Given the description of an element on the screen output the (x, y) to click on. 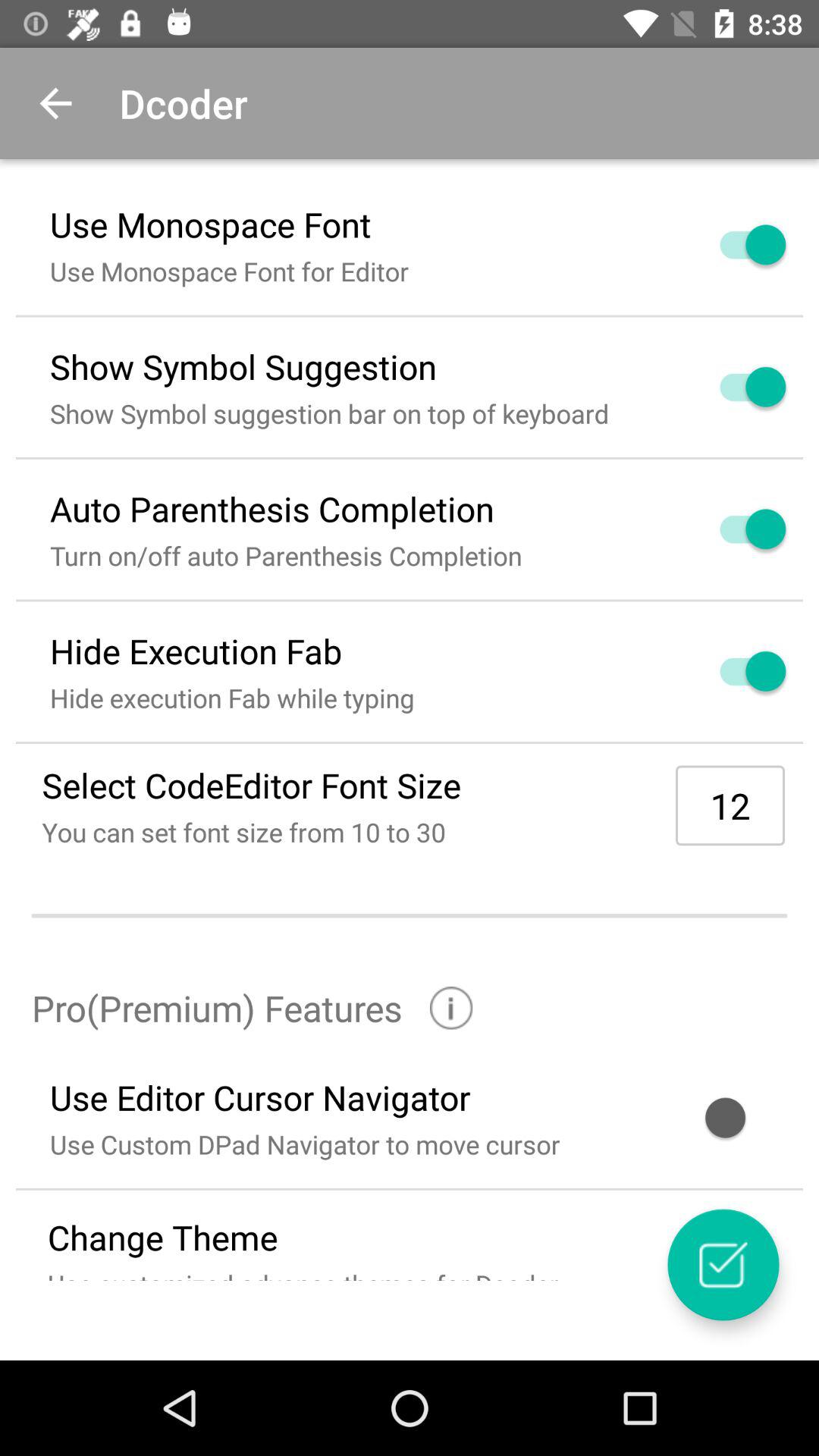
turn off the item next to the dcoder (55, 103)
